Given the description of an element on the screen output the (x, y) to click on. 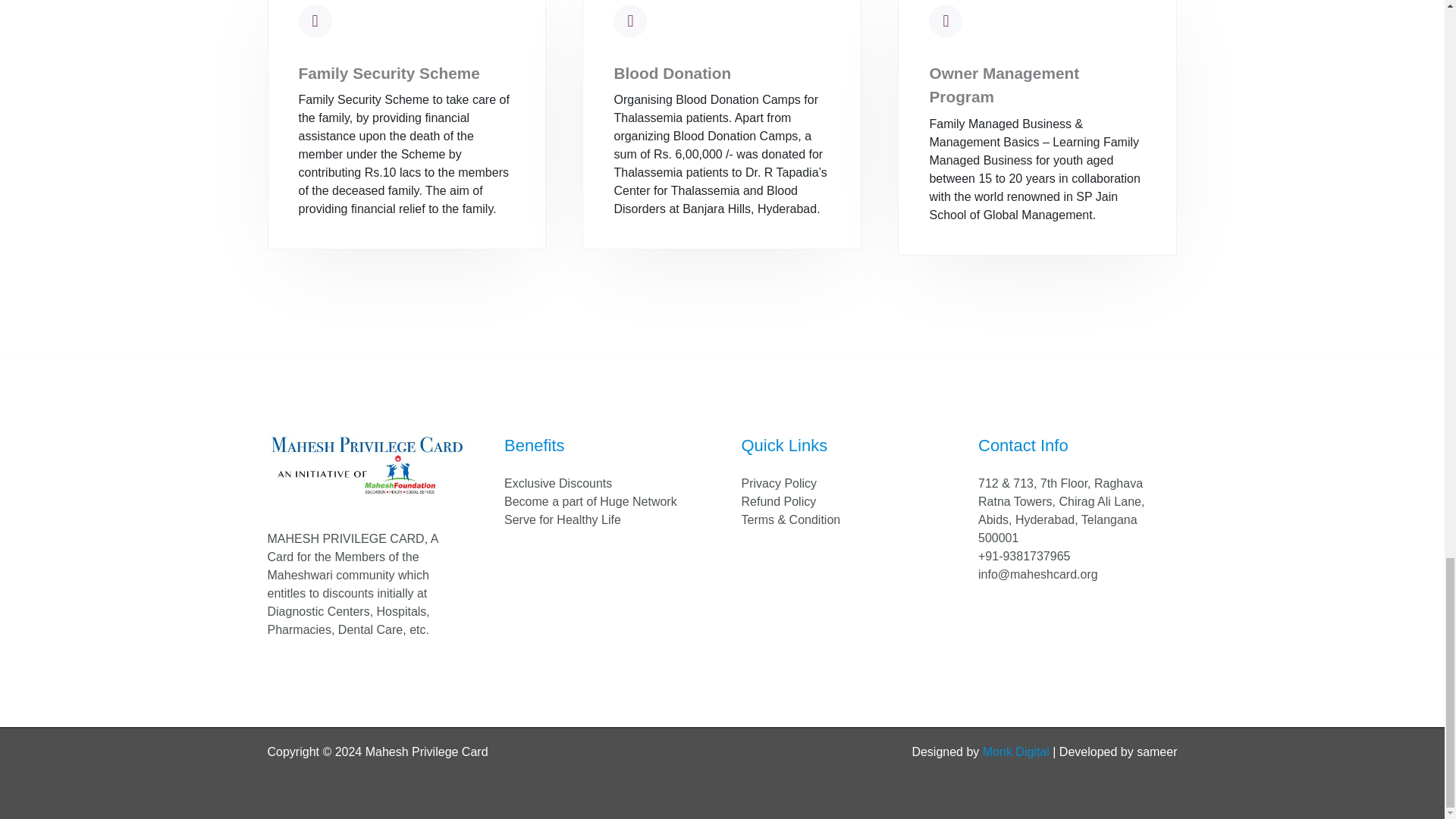
Privacy Policy (778, 482)
Monk Digital (1015, 751)
Owner Management Program (1003, 84)
sameer (1156, 751)
Exclusive Discounts (557, 482)
Serve for Healthy Life (562, 519)
Blood Donation (671, 72)
Become a part of Huge Network (590, 501)
Refund Policy (778, 501)
Family Security Scheme (389, 72)
